Given the description of an element on the screen output the (x, y) to click on. 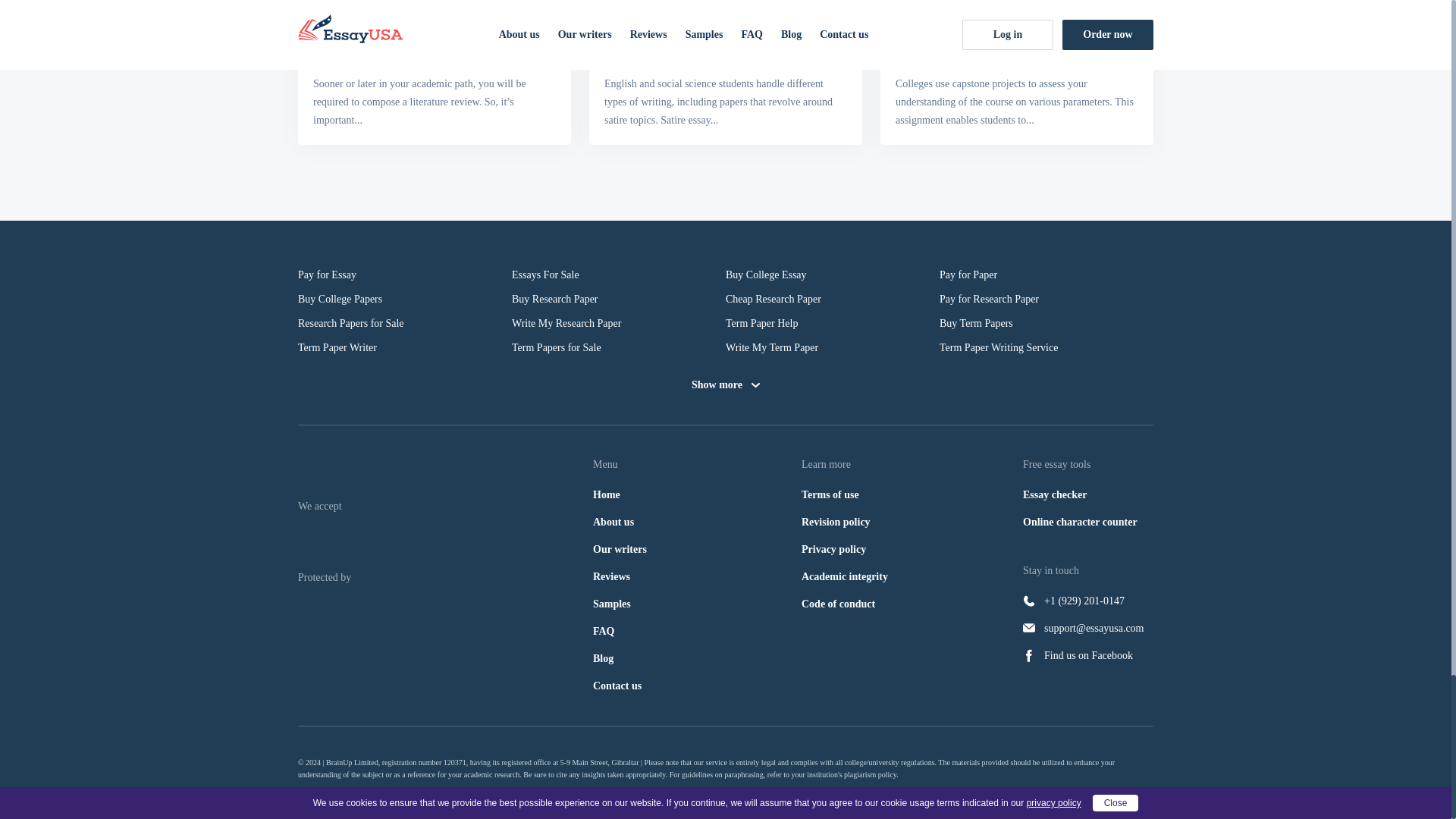
Pay for Essay (405, 275)
Essays For Sale (618, 275)
Research Papers for Sale (405, 323)
Term Paper Writing Service (1046, 348)
Term Paper Writer (405, 348)
Cheap Research Paper (832, 299)
Write My Term Paper (832, 348)
Buy College Essay (832, 275)
Term Paper Help (832, 323)
Pay for Paper (1046, 275)
Capstone Project Ideas to Fire You to Excellent Grades (1016, 47)
Pay for Research Paper (1046, 299)
Buy College Papers (405, 299)
Write My Research Paper (618, 323)
Buy Research Paper (618, 299)
